Given the description of an element on the screen output the (x, y) to click on. 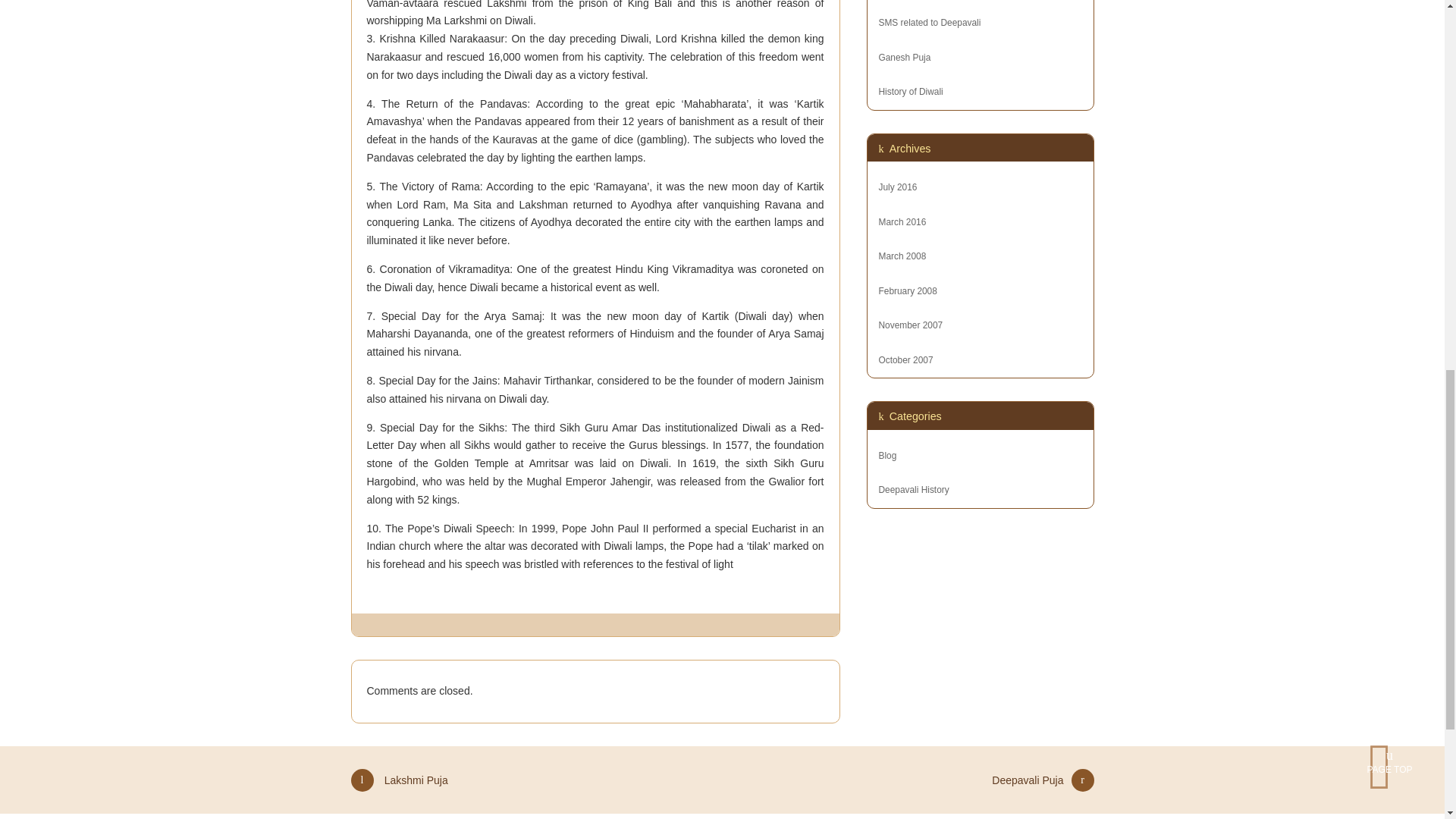
History of Diwali (979, 91)
Deepavali History (913, 489)
October 2007 (905, 359)
March 2016 (901, 222)
July 2016 (897, 186)
Lakshmi Puja (398, 787)
March 2008 (901, 255)
Deepavali Puja (1042, 787)
February 2008 (906, 290)
Blog (886, 455)
